Given the description of an element on the screen output the (x, y) to click on. 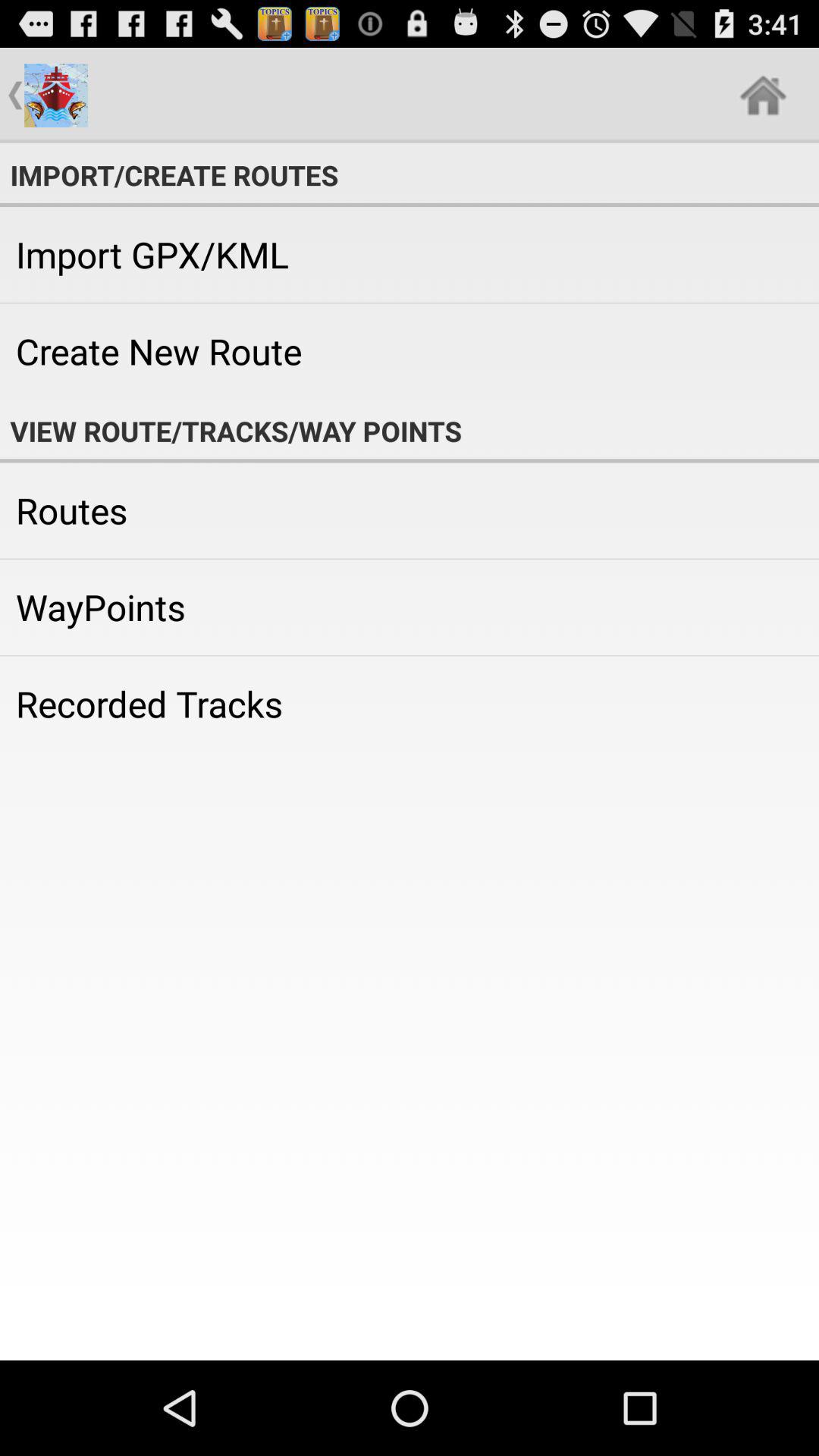
jump to the recorded tracks app (409, 703)
